Given the description of an element on the screen output the (x, y) to click on. 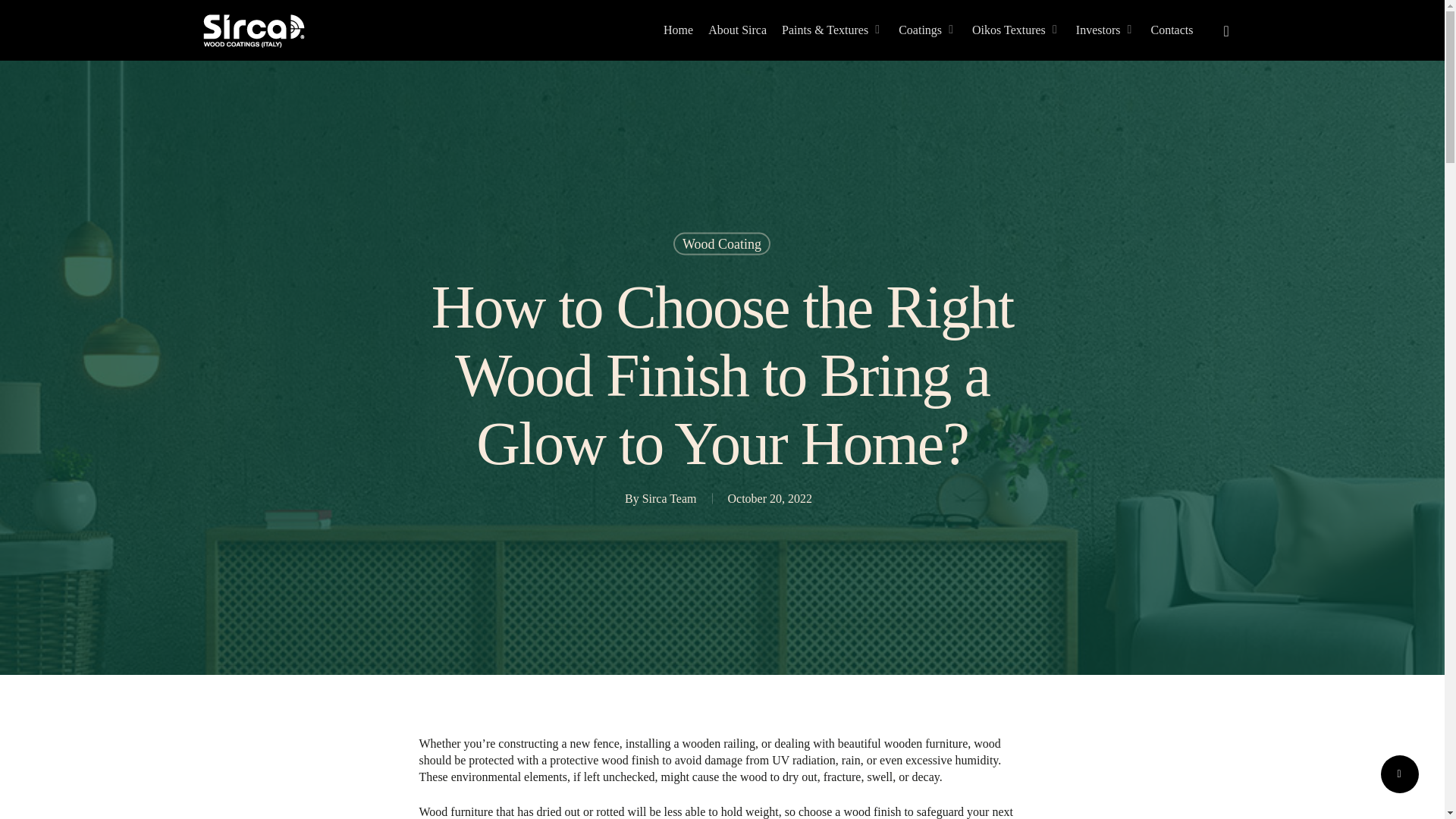
Oikos Textures (1016, 29)
About Sirca (737, 29)
Posts by Sirca Team (669, 498)
Home (678, 29)
Coatings (927, 29)
